Given the description of an element on the screen output the (x, y) to click on. 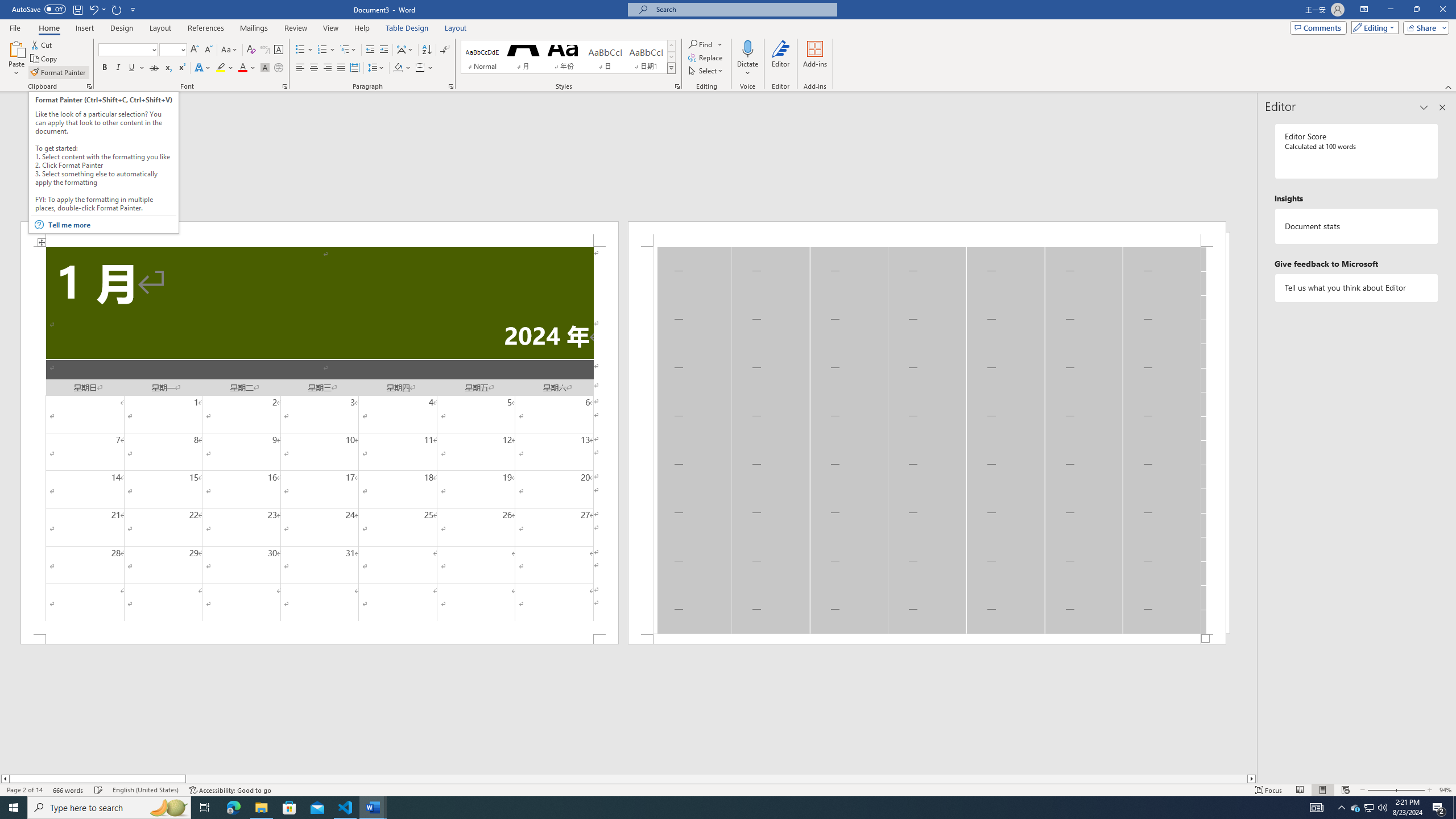
Open (182, 49)
Phonetic Guide... (264, 49)
Page 1 content (319, 439)
Spelling and Grammar Check Checking (98, 790)
Font... (285, 85)
Editor (780, 58)
Change Case (229, 49)
Character Shading (264, 67)
